Given the description of an element on the screen output the (x, y) to click on. 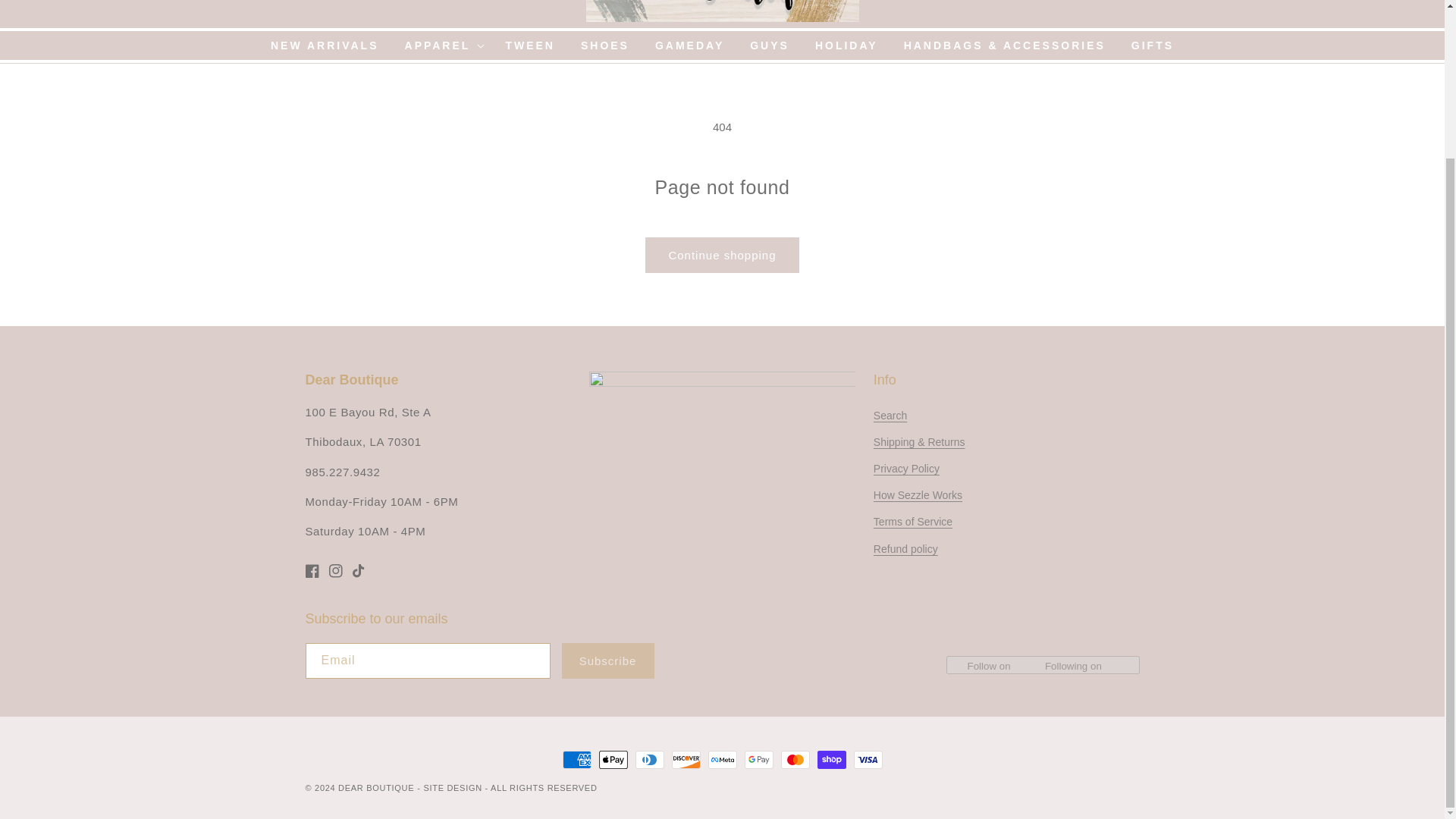
GUYS (769, 45)
SHOES (604, 45)
TWEEN (529, 45)
NEW ARRIVALS (324, 45)
HOLIDAY (846, 45)
GAMEDAY (689, 45)
GIFTS (1152, 45)
